Given the description of an element on the screen output the (x, y) to click on. 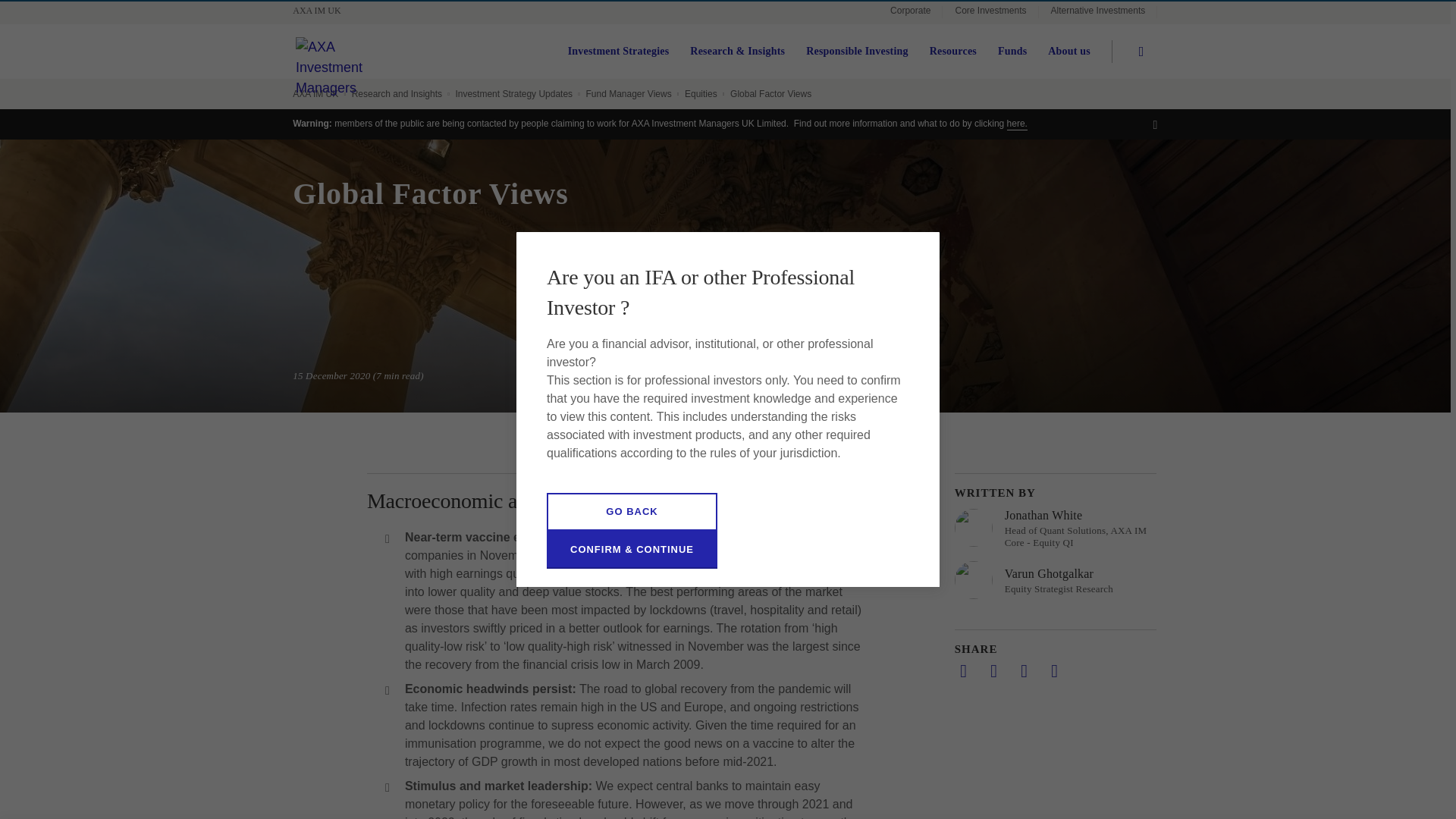
Corporate (909, 12)
Share on twitter - New window (994, 670)
View biography (1056, 527)
AXA Investment Managers, Home (348, 89)
Core Investments (990, 12)
GO BACK (632, 511)
Share on LinkedIn - New window (963, 670)
AXA IM UK (323, 10)
AXA IM UK, Home (323, 10)
Investment Strategies (618, 51)
